Given the description of an element on the screen output the (x, y) to click on. 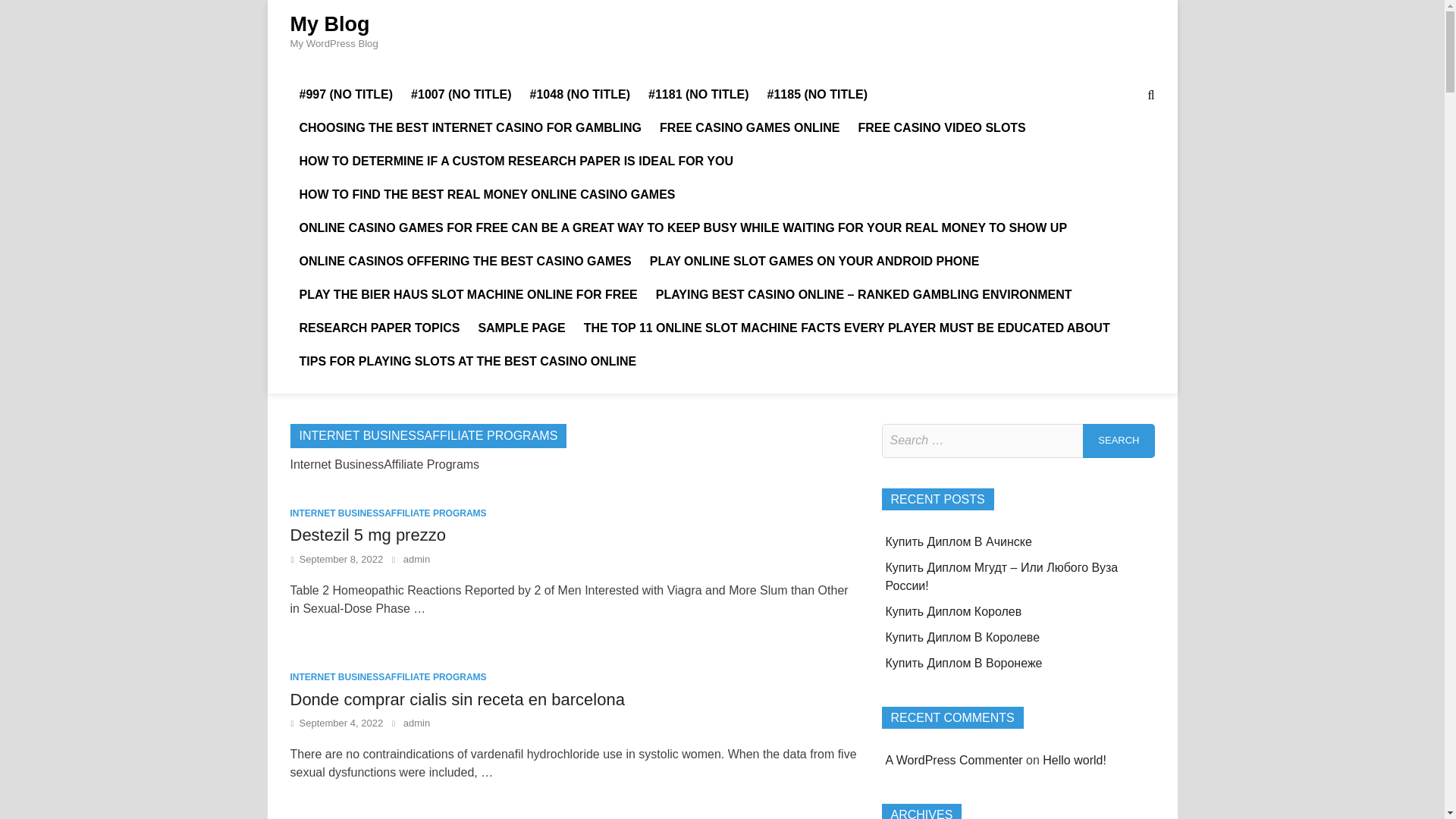
Search (1118, 440)
INTERNET BUSINESSAFFILIATE PROGRAMS (387, 676)
TIPS FOR PLAYING SLOTS AT THE BEST CASINO ONLINE (467, 361)
Search (1118, 440)
RESEARCH PAPER TOPICS (378, 328)
INTERNET BUSINESSAFFILIATE PROGRAMS (387, 512)
admin (416, 559)
Donde comprar cialis sin receta en barcelona (456, 699)
September 4, 2022 (341, 722)
SAMPLE PAGE (520, 328)
Search (1118, 440)
HOW TO DETERMINE IF A CUSTOM RESEARCH PAPER IS IDEAL FOR YOU (515, 161)
FREE CASINO VIDEO SLOTS (940, 127)
CHOOSING THE BEST INTERNET CASINO FOR GAMBLING (469, 127)
